Given the description of an element on the screen output the (x, y) to click on. 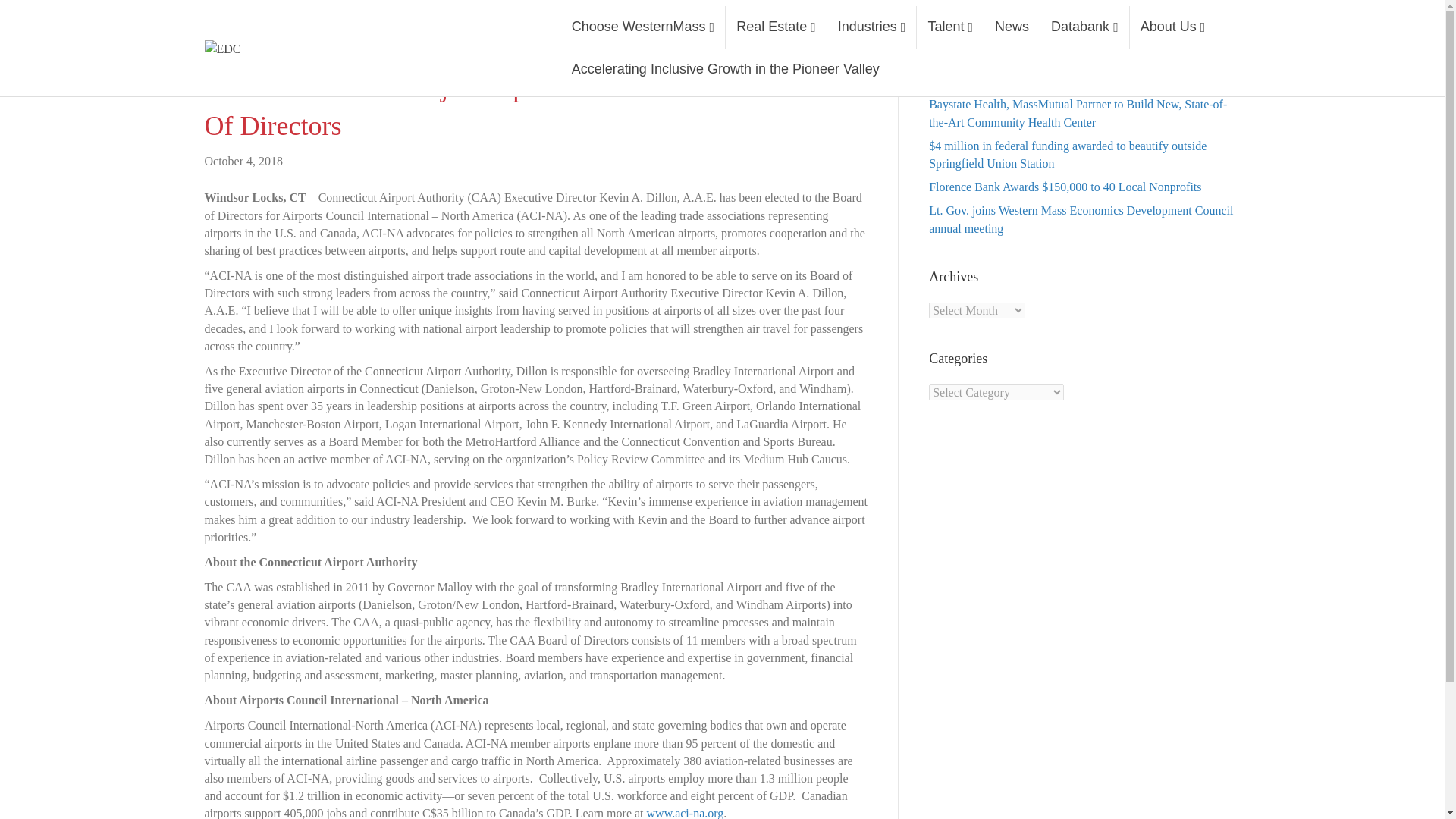
Choose WesternMass (642, 26)
Industries (872, 26)
Talent (950, 26)
Real Estate (776, 26)
